Given the description of an element on the screen output the (x, y) to click on. 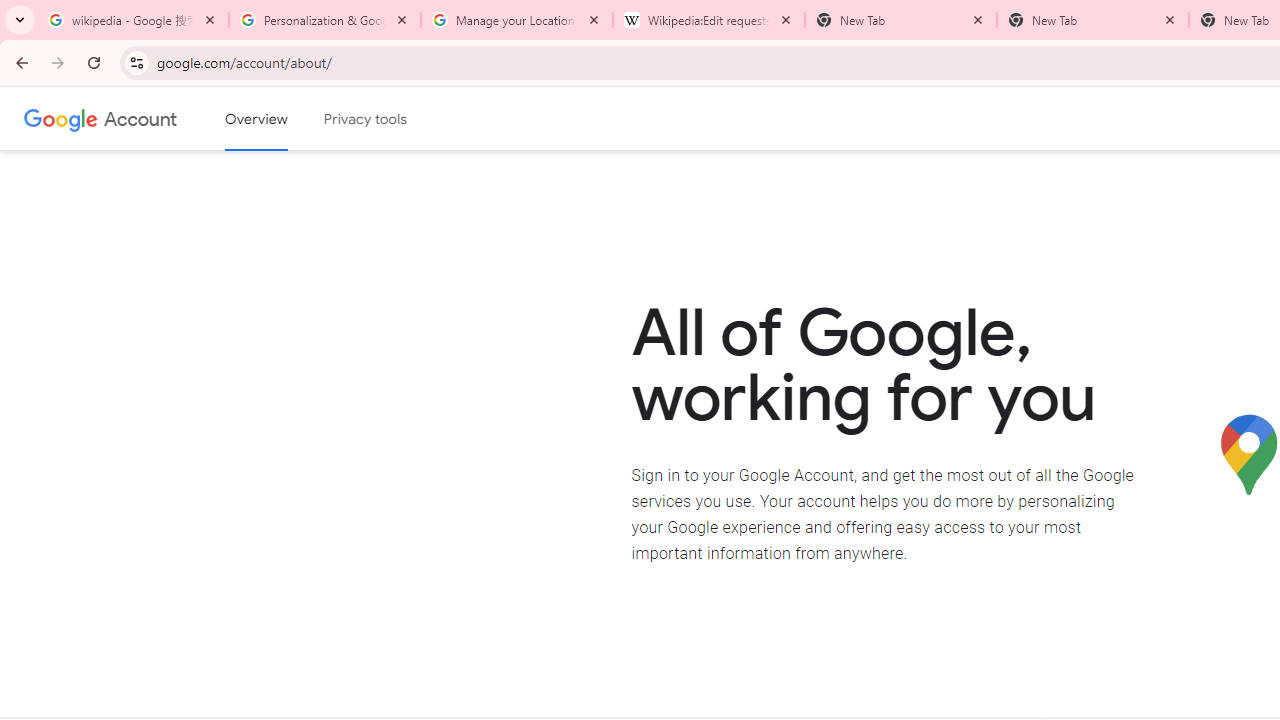
Google Account overview (256, 119)
Privacy tools (365, 119)
